Given the description of an element on the screen output the (x, y) to click on. 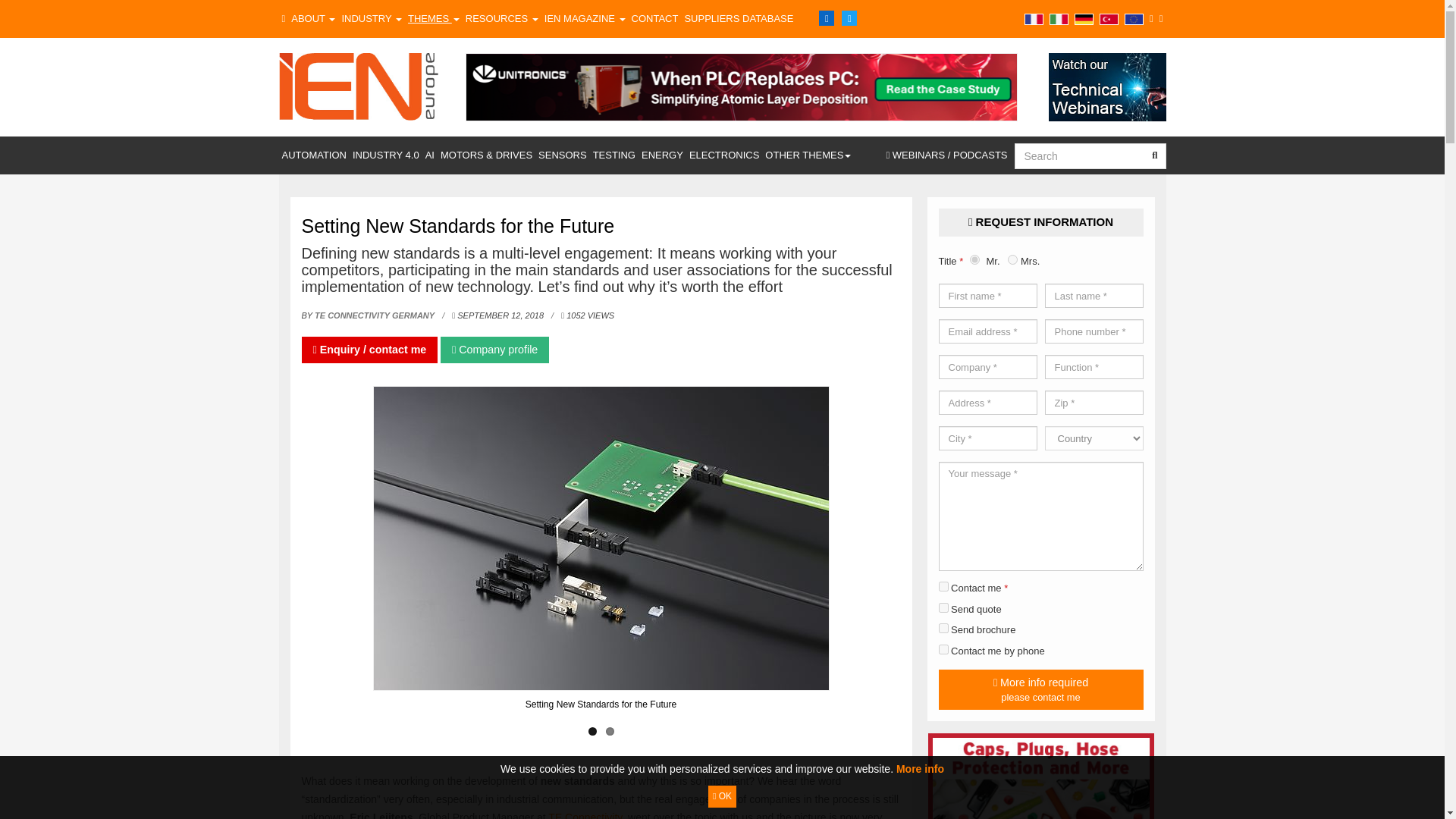
1 (944, 586)
enquireForm.options.002 (944, 607)
Industry (370, 18)
Mrs (1012, 259)
Themes (433, 18)
THEMES (433, 18)
IEN MAGAZINE (584, 18)
OK (721, 796)
ABOUT (312, 18)
enquireForm.options.003 (944, 649)
